Given the description of an element on the screen output the (x, y) to click on. 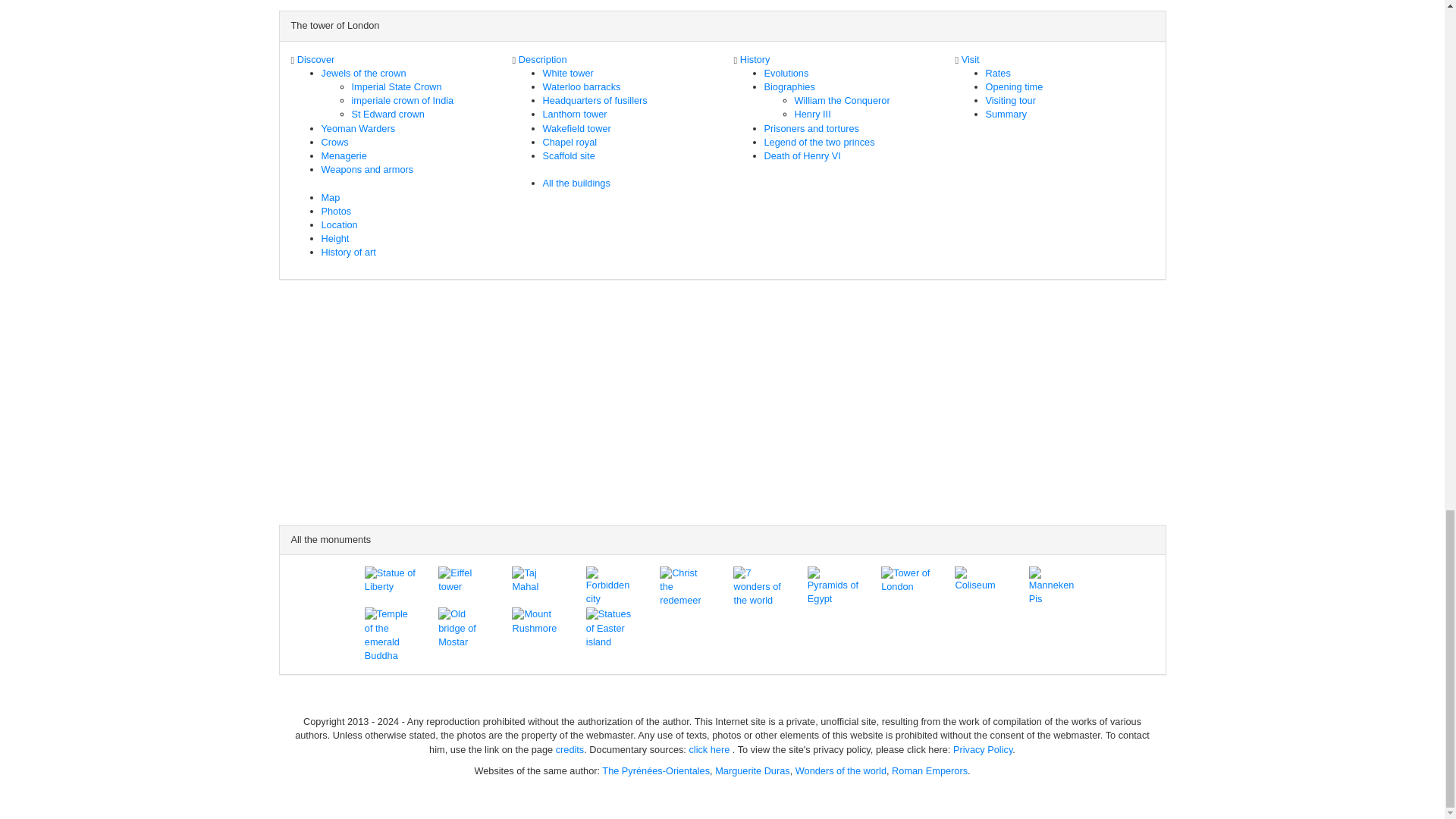
Discover (315, 59)
Menagerie (343, 155)
Crows (335, 142)
Imperial State Crown (397, 86)
St Edward crown (388, 113)
Jewels of the crown (363, 72)
imperiale crown of India (403, 100)
Yeoman Warders (358, 128)
